Given the description of an element on the screen output the (x, y) to click on. 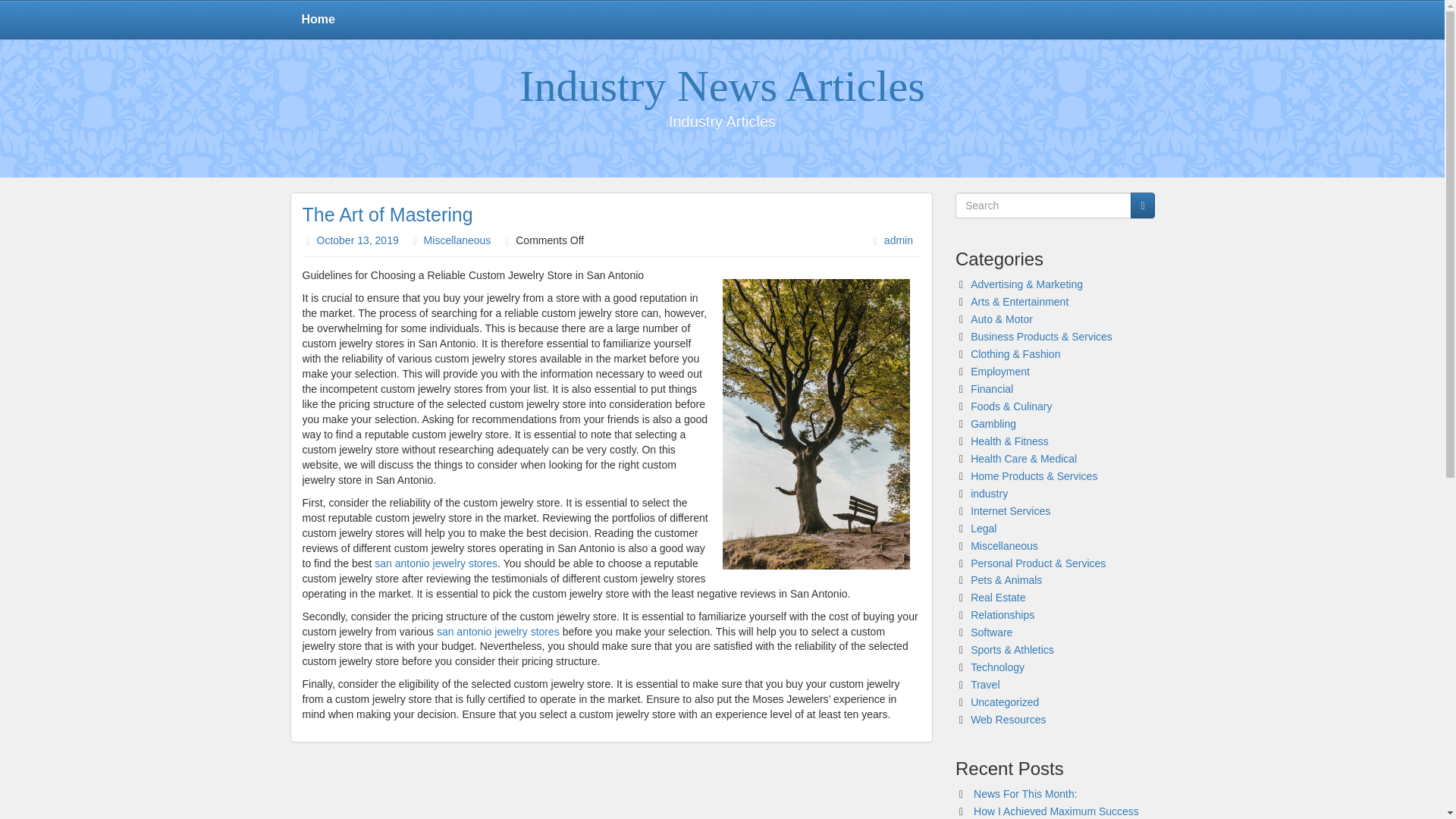
admin (897, 240)
Software (991, 632)
Real Estate (998, 597)
Miscellaneous (457, 240)
Relationships (1002, 614)
Technology (998, 666)
Employment (1000, 371)
Internet Services (1010, 510)
san antonio jewelry stores (435, 563)
News For This Month: (1025, 793)
